Given the description of an element on the screen output the (x, y) to click on. 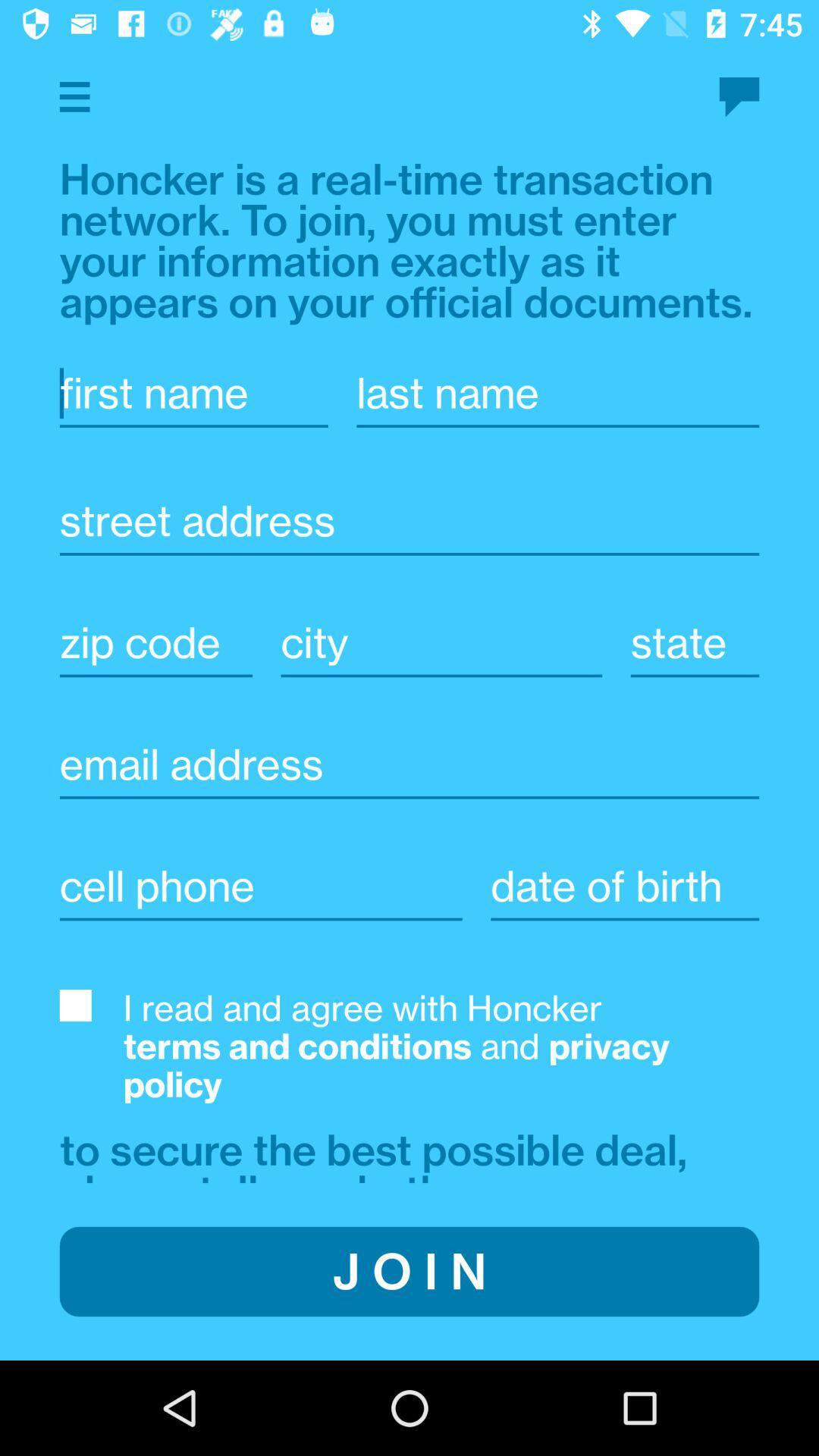
first name textbox (193, 392)
